Given the description of an element on the screen output the (x, y) to click on. 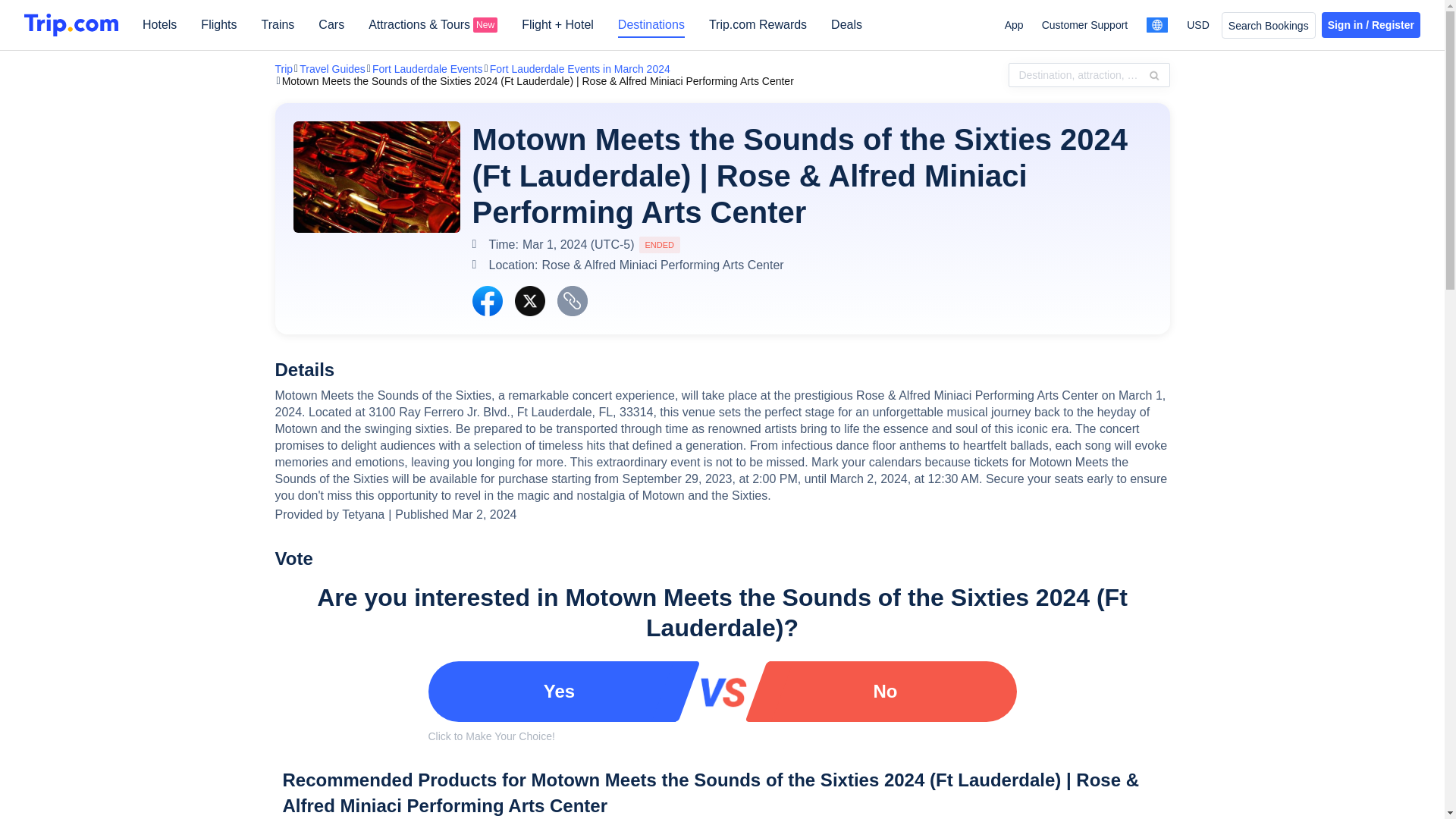
Trip.com Rewards (757, 31)
Trains (277, 31)
Destinations (650, 31)
App (1013, 24)
Cars (330, 31)
Flights (217, 31)
Cars (330, 31)
Fort Lauderdale Events (427, 69)
Travel Guides (332, 69)
Fort Lauderdale Events (427, 69)
